Given the description of an element on the screen output the (x, y) to click on. 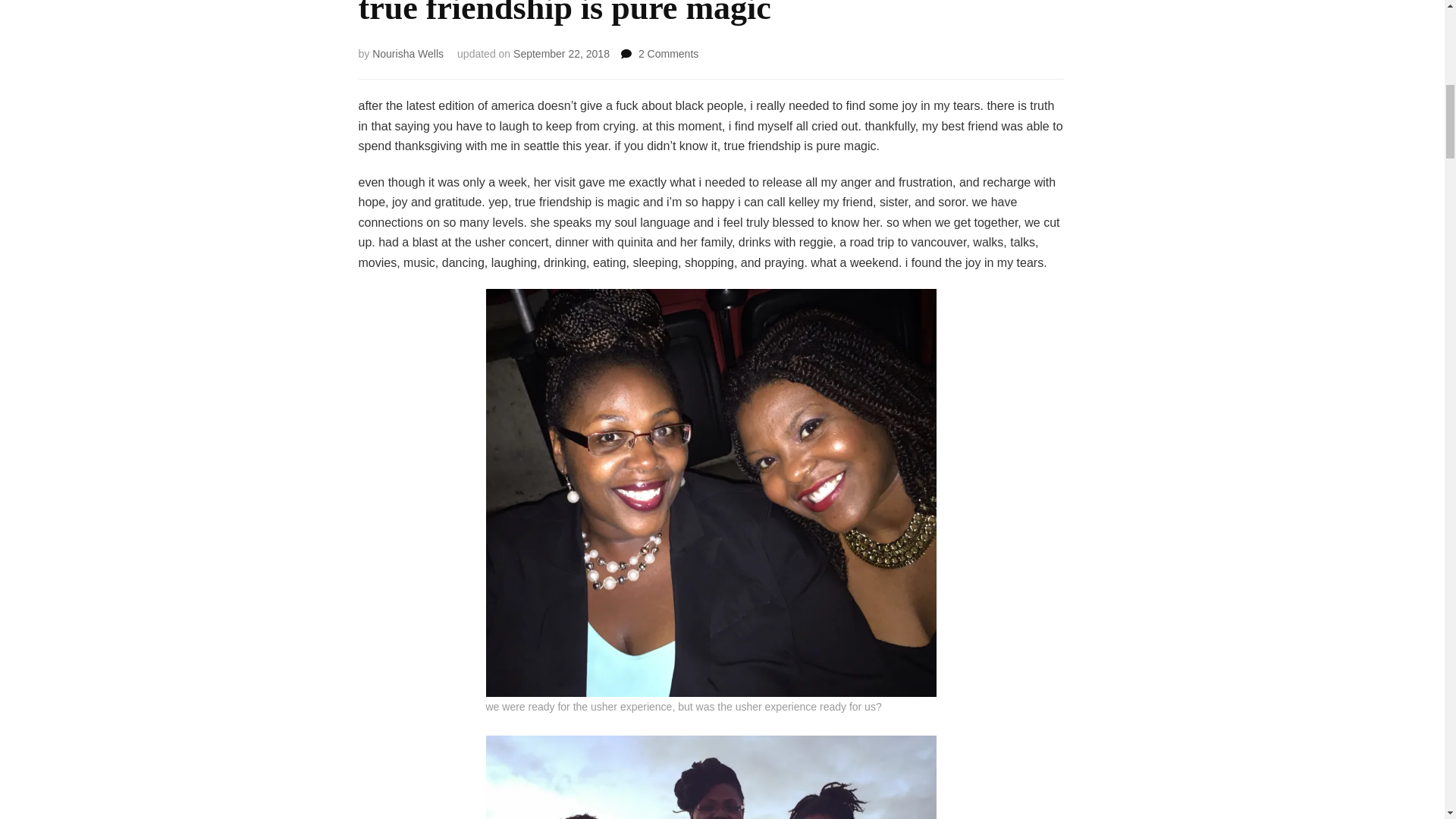
September 22, 2018 (561, 53)
Nourisha Wells (668, 53)
